Given the description of an element on the screen output the (x, y) to click on. 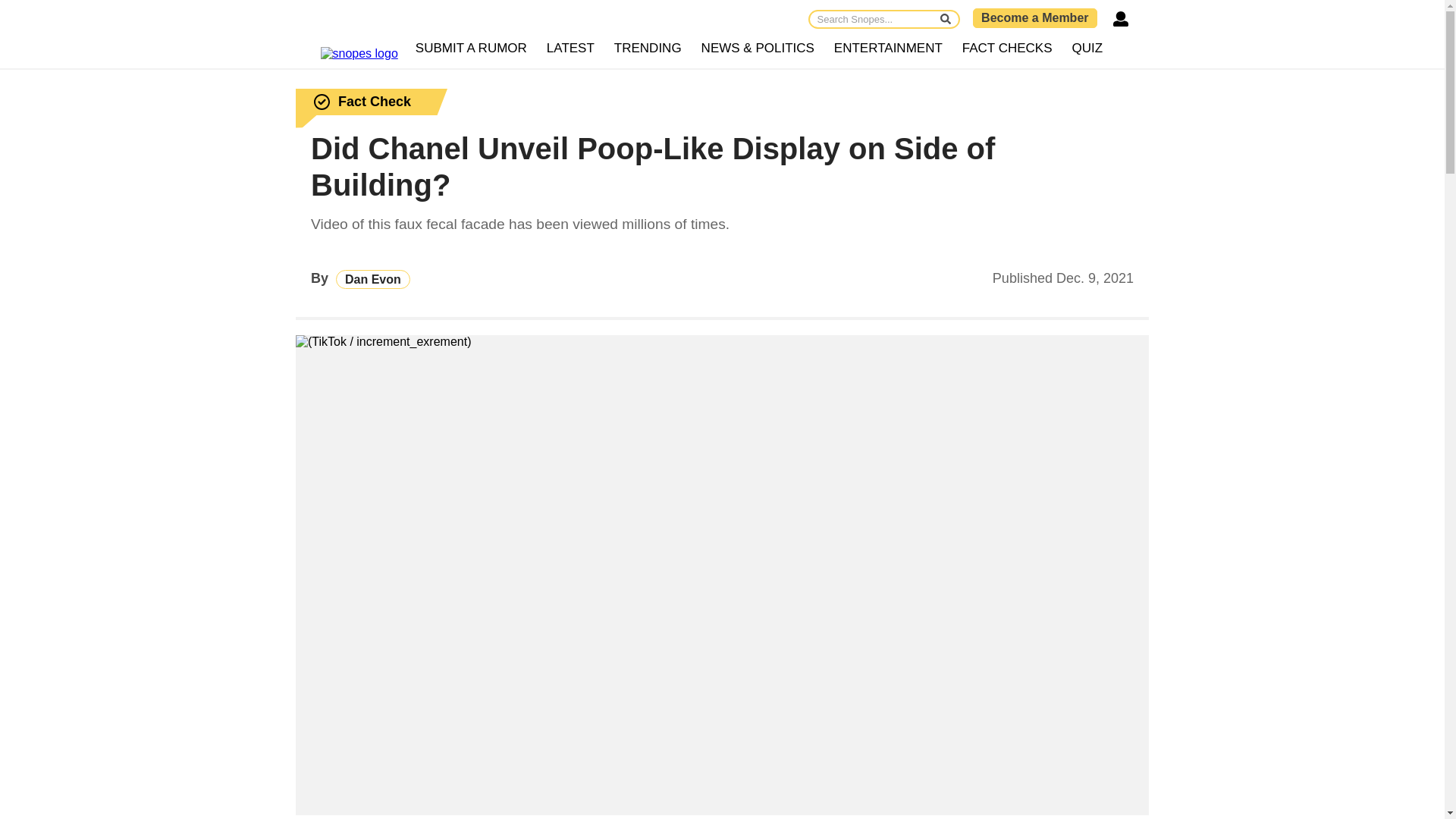
TRENDING (647, 47)
LATEST (570, 47)
ENTERTAINMENT (887, 47)
SUBMIT A RUMOR (471, 47)
Become a Member (1034, 17)
QUIZ (1087, 47)
Dan Evon (373, 279)
FACT CHECKS (1007, 47)
